Given the description of an element on the screen output the (x, y) to click on. 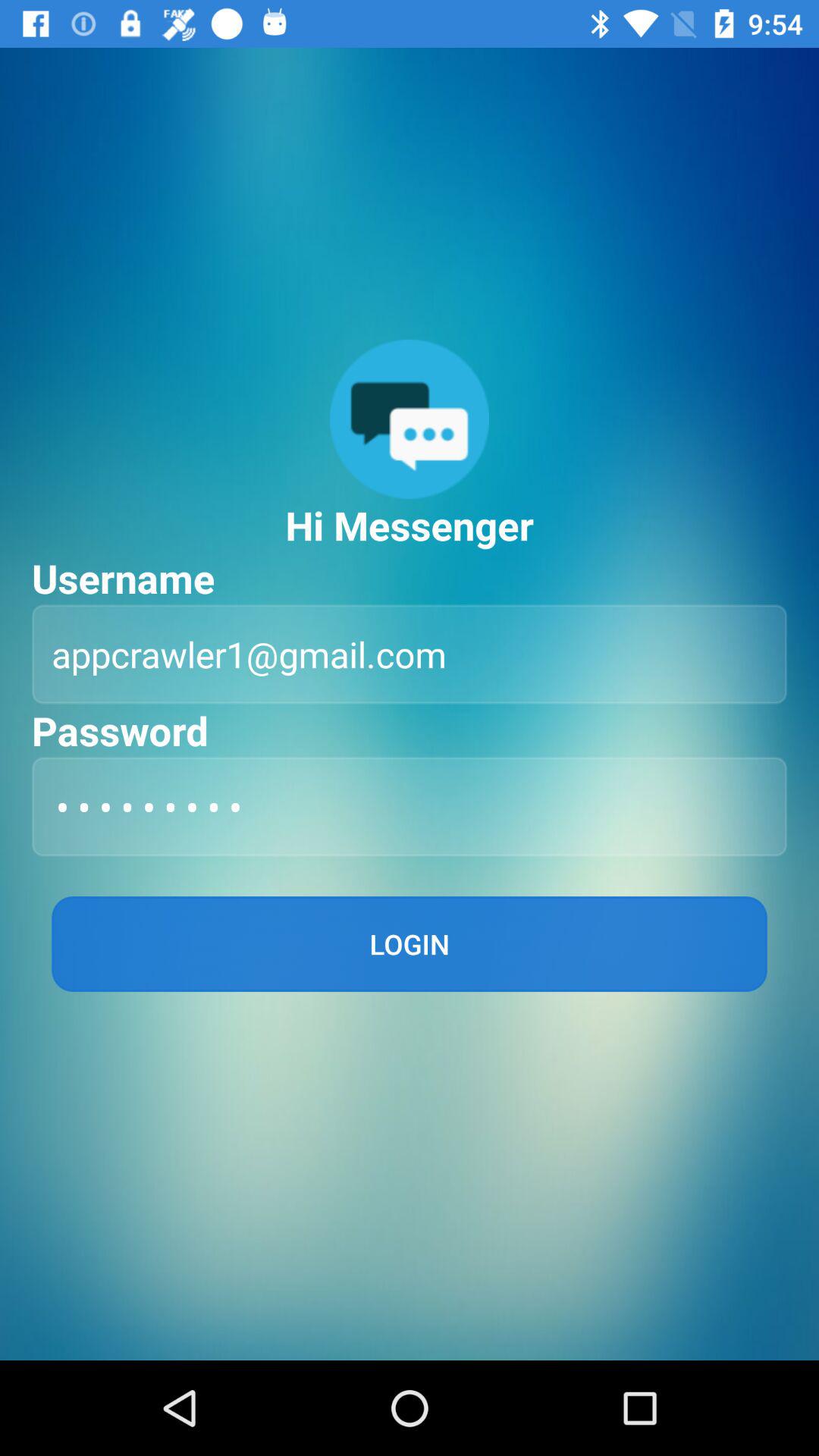
choose appcrawler1@gmail.com item (409, 654)
